Given the description of an element on the screen output the (x, y) to click on. 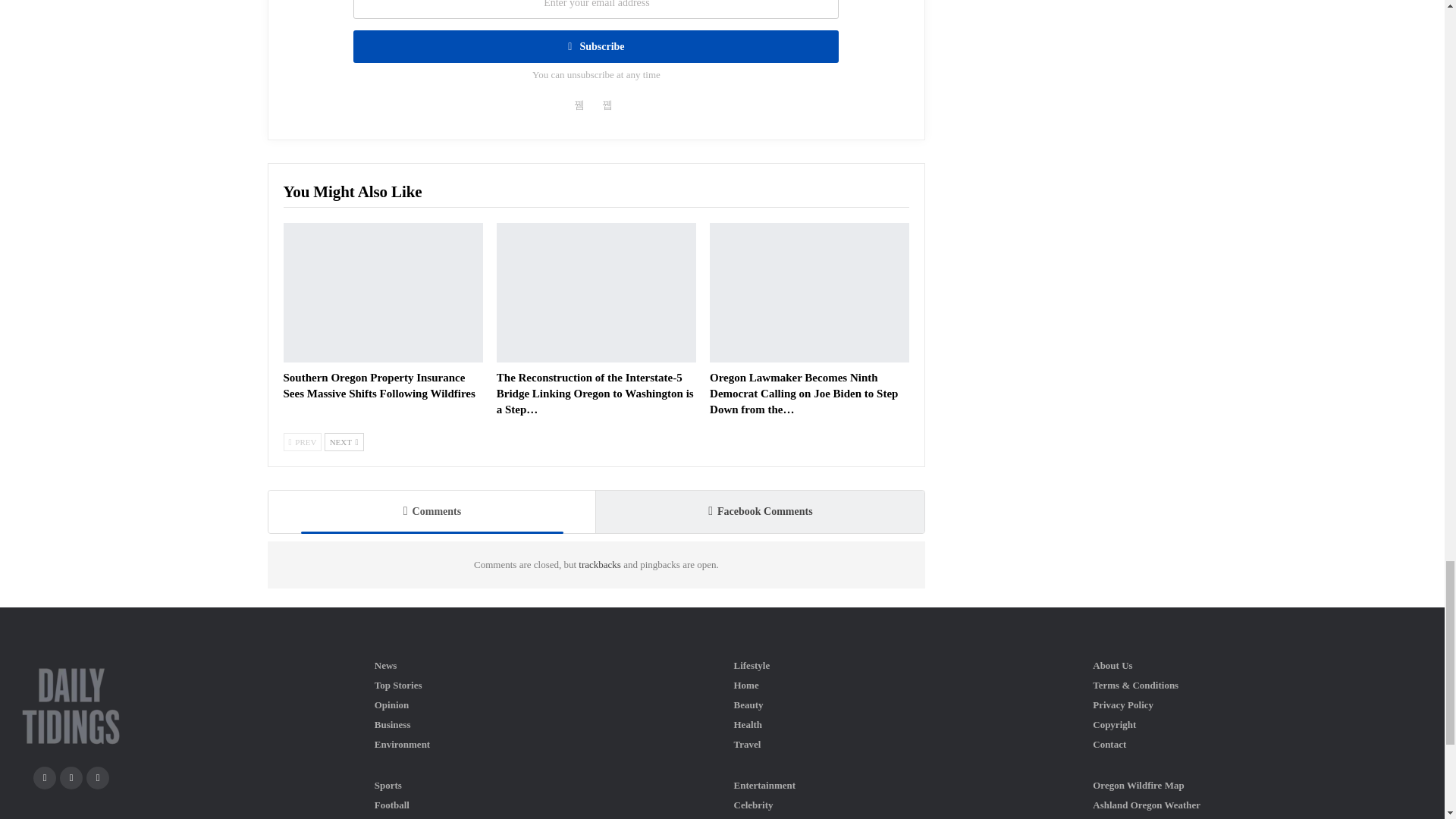
Next (344, 442)
Subscribe (595, 46)
Previous (302, 442)
You Might Also Like (352, 192)
